Given the description of an element on the screen output the (x, y) to click on. 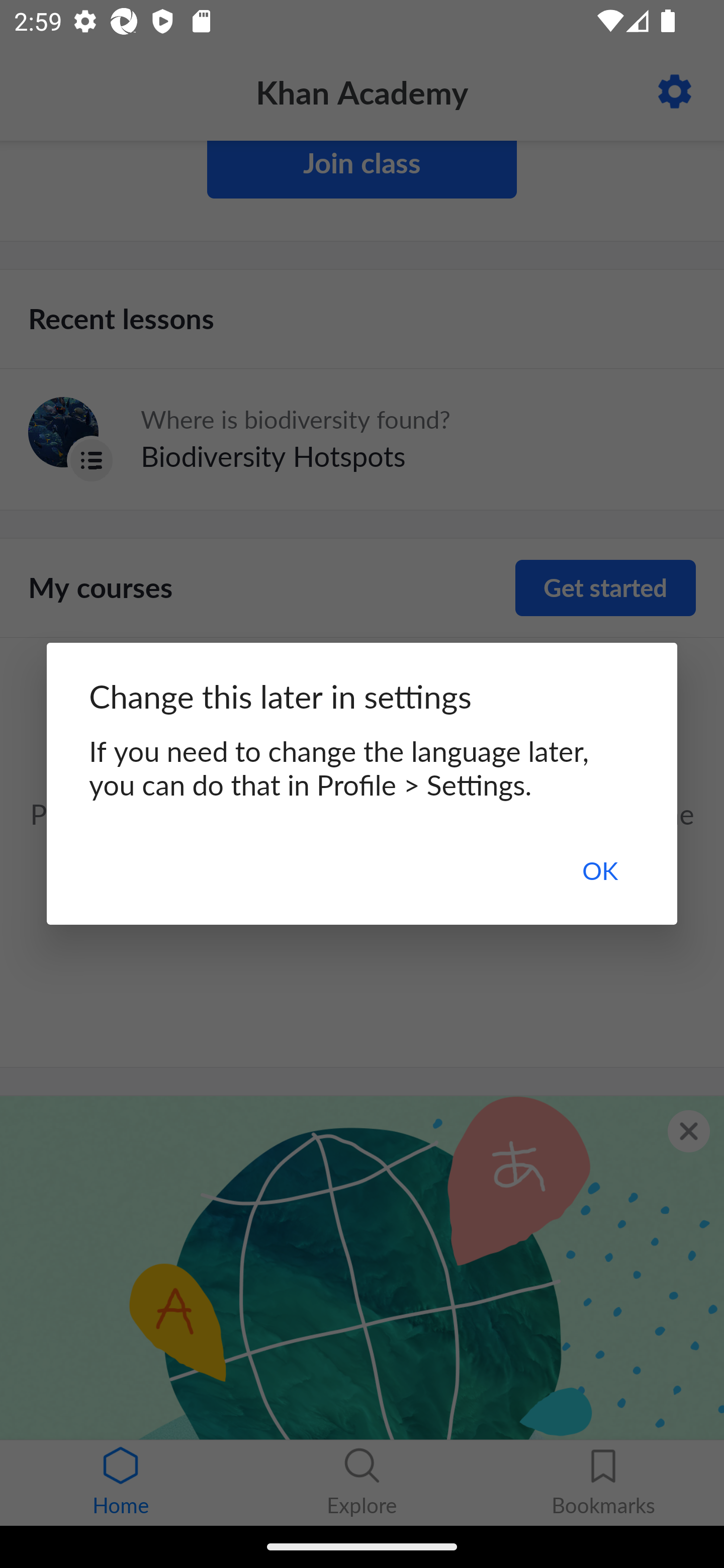
OK (599, 870)
